Given the description of an element on the screen output the (x, y) to click on. 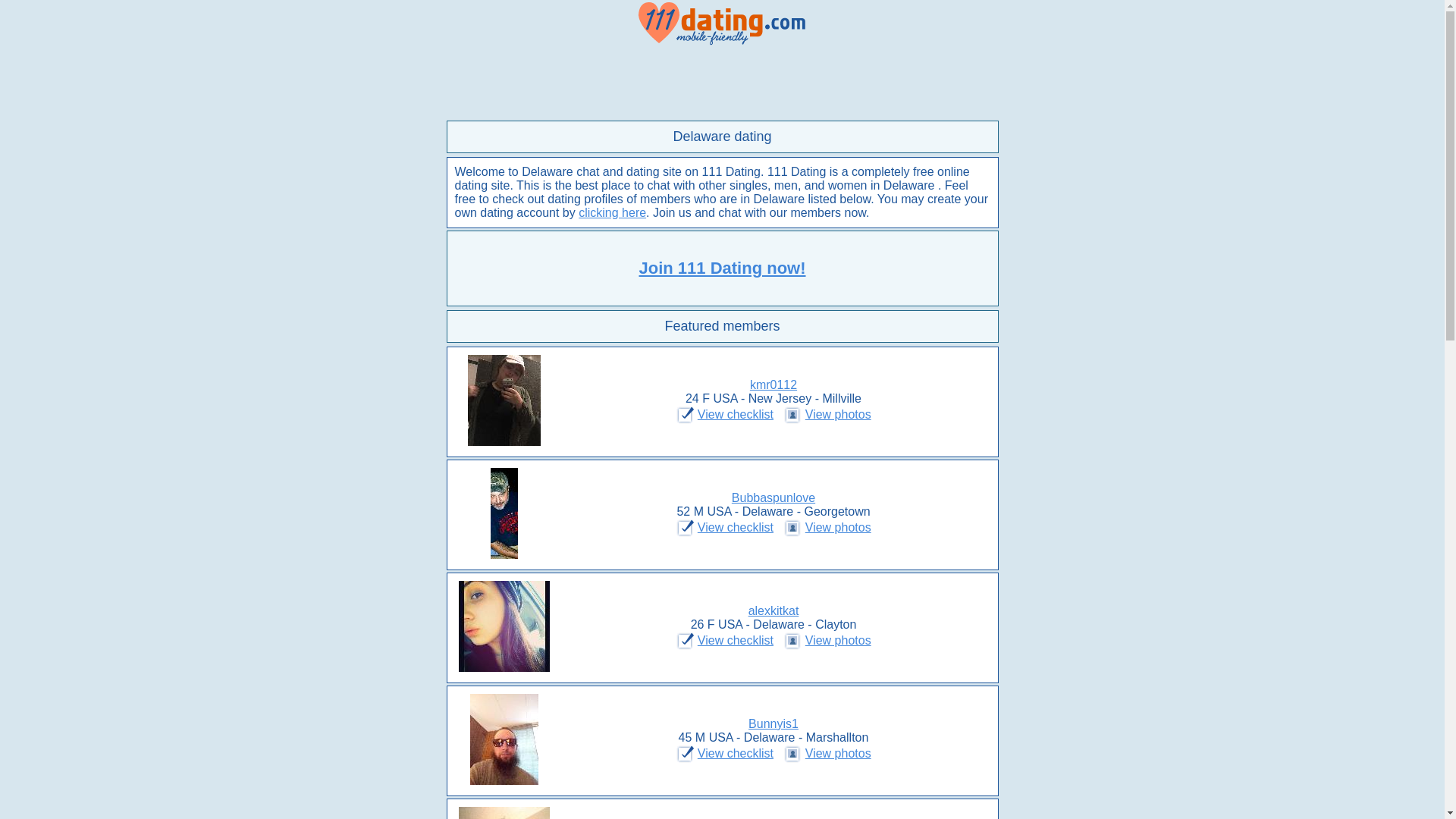
alexkitkat Element type: text (773, 610)
View checklist Element type: text (735, 526)
kmr0112 Element type: text (773, 384)
View photos Element type: text (838, 526)
View photos Element type: text (838, 639)
Advertisement Element type: hover (721, 83)
Bunnyis1 Element type: text (773, 723)
View photos Element type: text (838, 413)
View checklist Element type: text (735, 752)
Bubbaspunlove Element type: text (773, 497)
View checklist Element type: text (735, 413)
View checklist Element type: text (735, 639)
Join 111 Dating now! Element type: text (721, 267)
View photos Element type: text (838, 752)
clicking here Element type: text (612, 212)
